Given the description of an element on the screen output the (x, y) to click on. 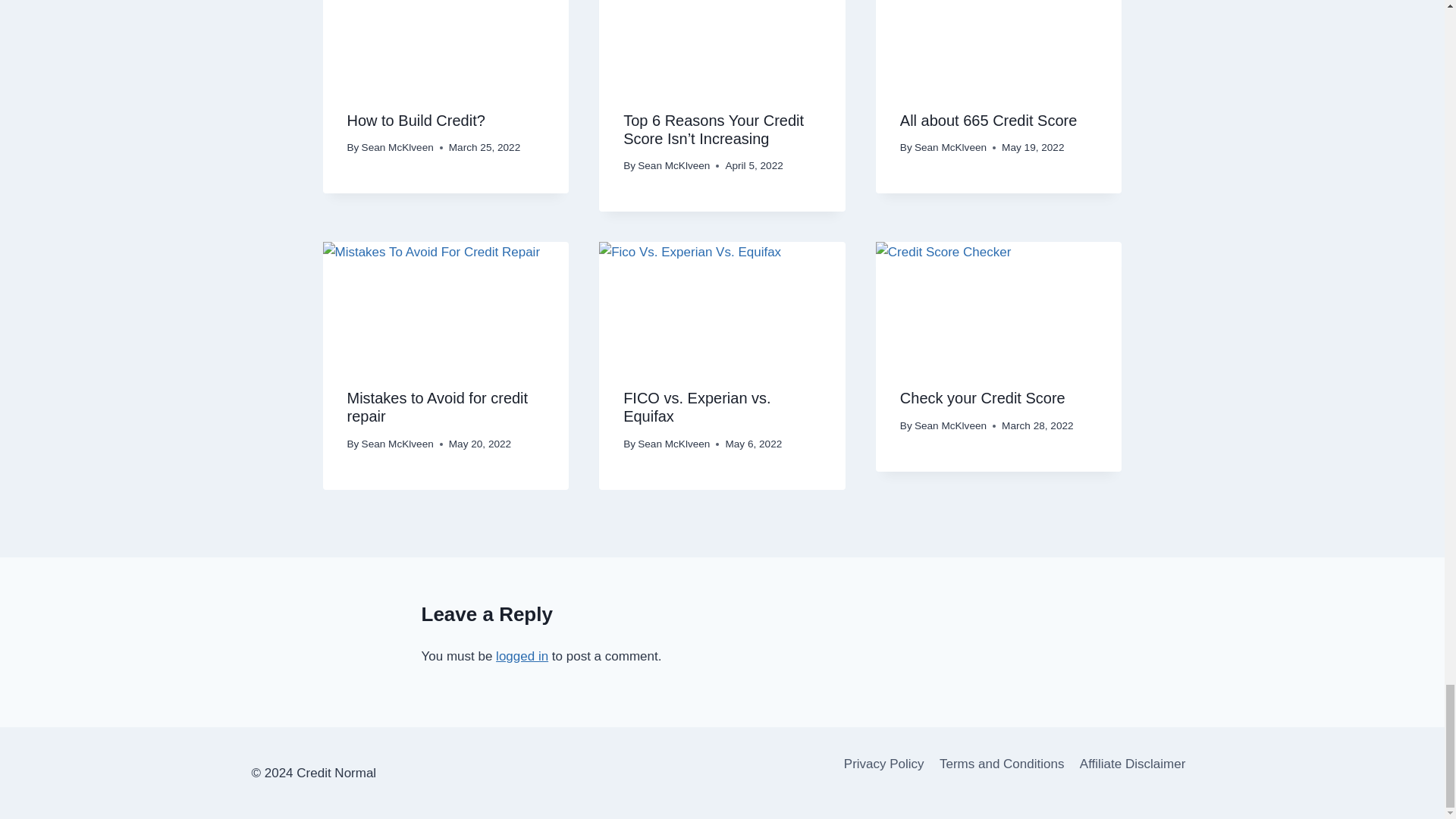
All About 665 Credit Score 9 (999, 43)
How to Build Credit? (415, 120)
Mistakes To Avoid For Credit Repair 10 (446, 302)
All about 665 Credit Score (988, 120)
Check Your Credit Score 12 (999, 302)
Sean McKlveen (397, 147)
Sean McKlveen (950, 147)
Sean McKlveen (673, 443)
Sean McKlveen (397, 443)
Check your Credit Score (982, 397)
